Given the description of an element on the screen output the (x, y) to click on. 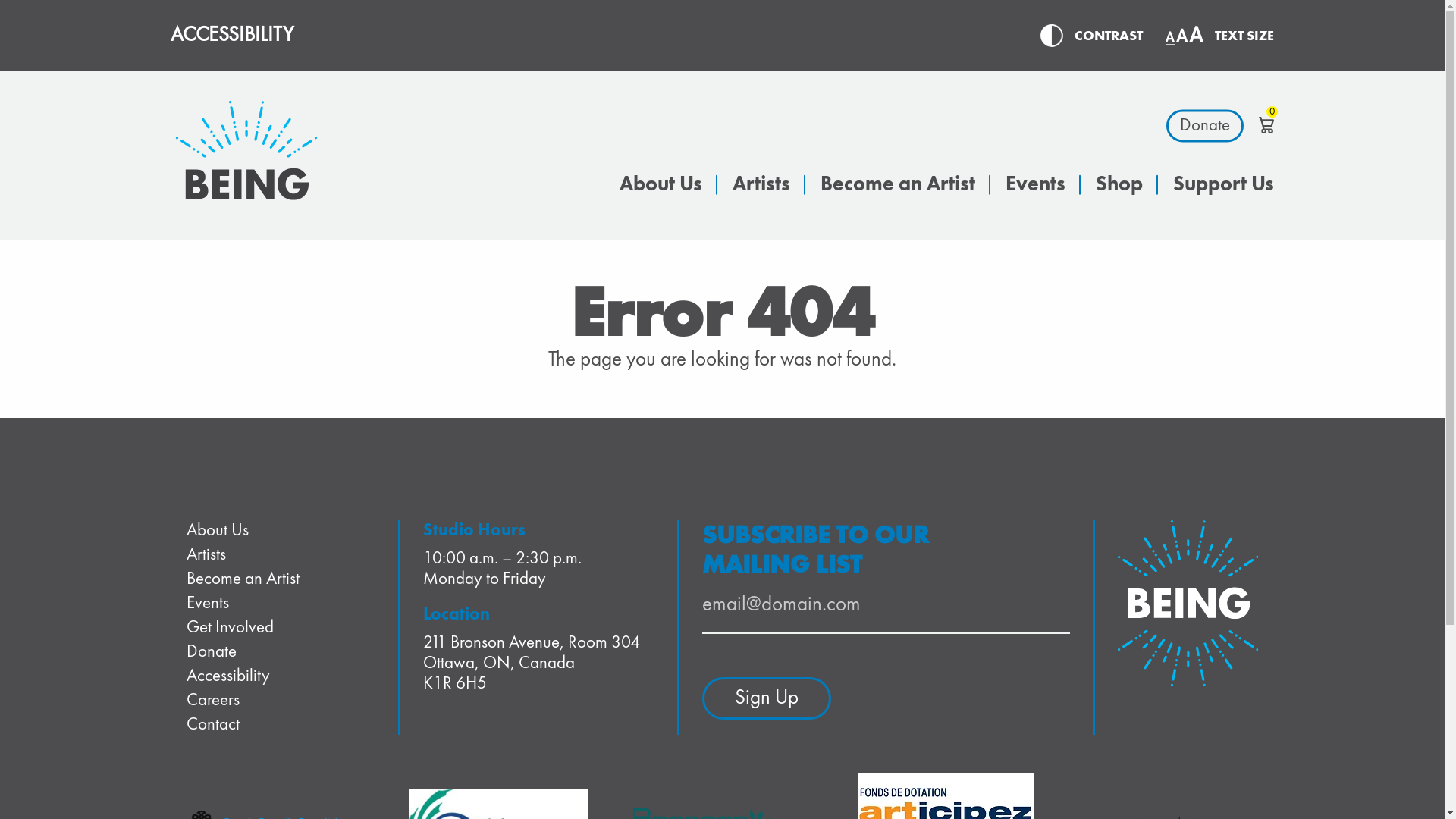
Become an Artist Element type: text (897, 184)
ACCESSIBILITY Element type: text (231, 35)
Contact Element type: text (212, 724)
Sign Up Element type: text (766, 698)
Shop Element type: text (1118, 184)
Careers Element type: text (212, 700)
CONTRAST Element type: text (1108, 35)
Get Involved Element type: text (229, 627)
Accessibility Element type: text (227, 675)
0 Element type: text (1266, 124)
Become an Artist Element type: text (242, 578)
Events Element type: text (207, 603)
Artists Element type: text (205, 554)
Events Element type: text (1035, 184)
About Us Element type: text (660, 184)
About Us Element type: text (217, 530)
TEXT SIZE Element type: text (1244, 35)
Support Us Element type: text (1223, 184)
Artists Element type: text (761, 184)
Donate Element type: text (1204, 125)
Donate Element type: text (211, 651)
